Given the description of an element on the screen output the (x, y) to click on. 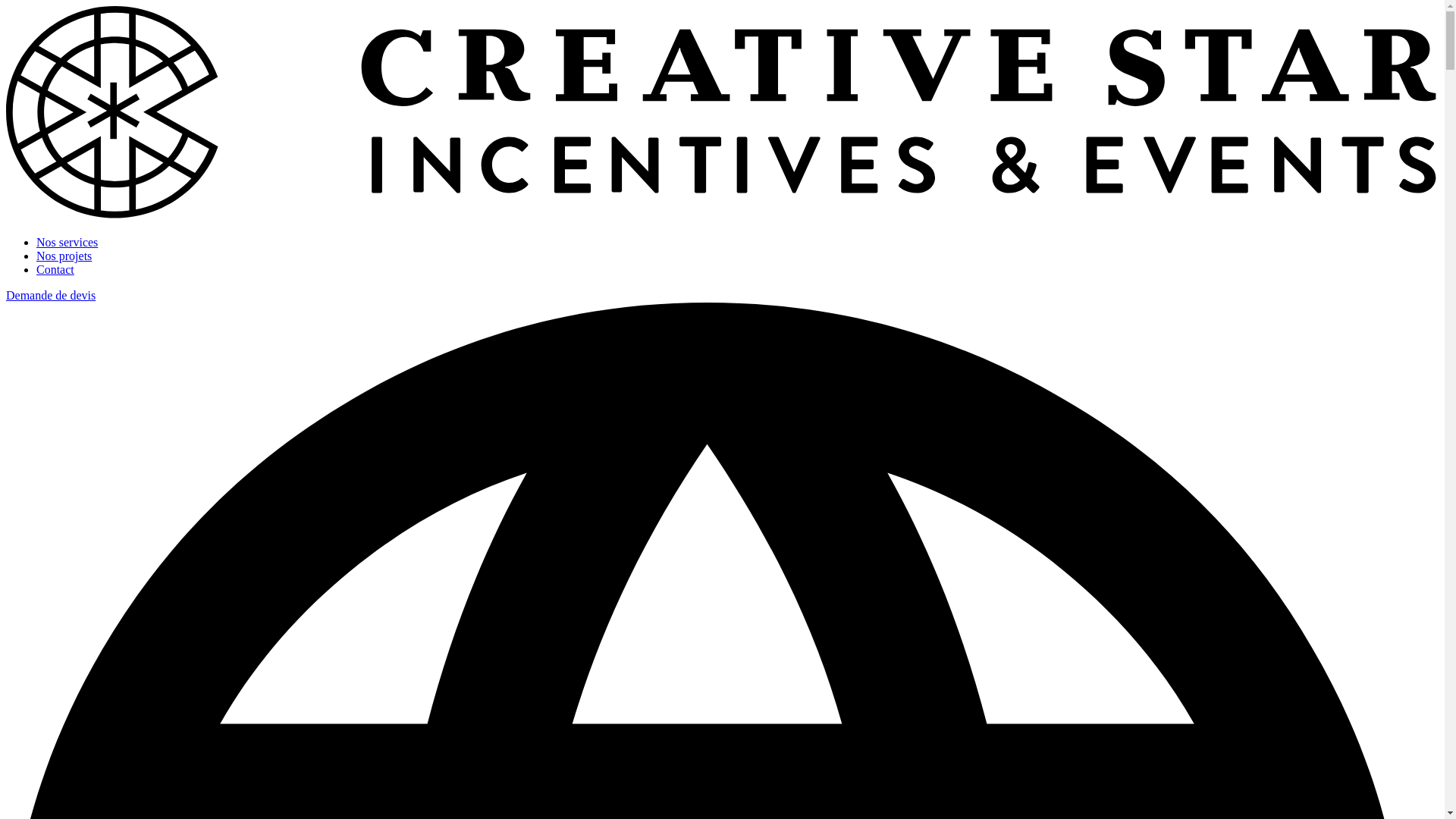
Nos services Element type: text (66, 241)
Demande de devis Element type: text (50, 294)
Contact Element type: text (55, 269)
Creative star - Incentives & Events Element type: hover (722, 216)
Nos projets Element type: text (63, 255)
